Given the description of an element on the screen output the (x, y) to click on. 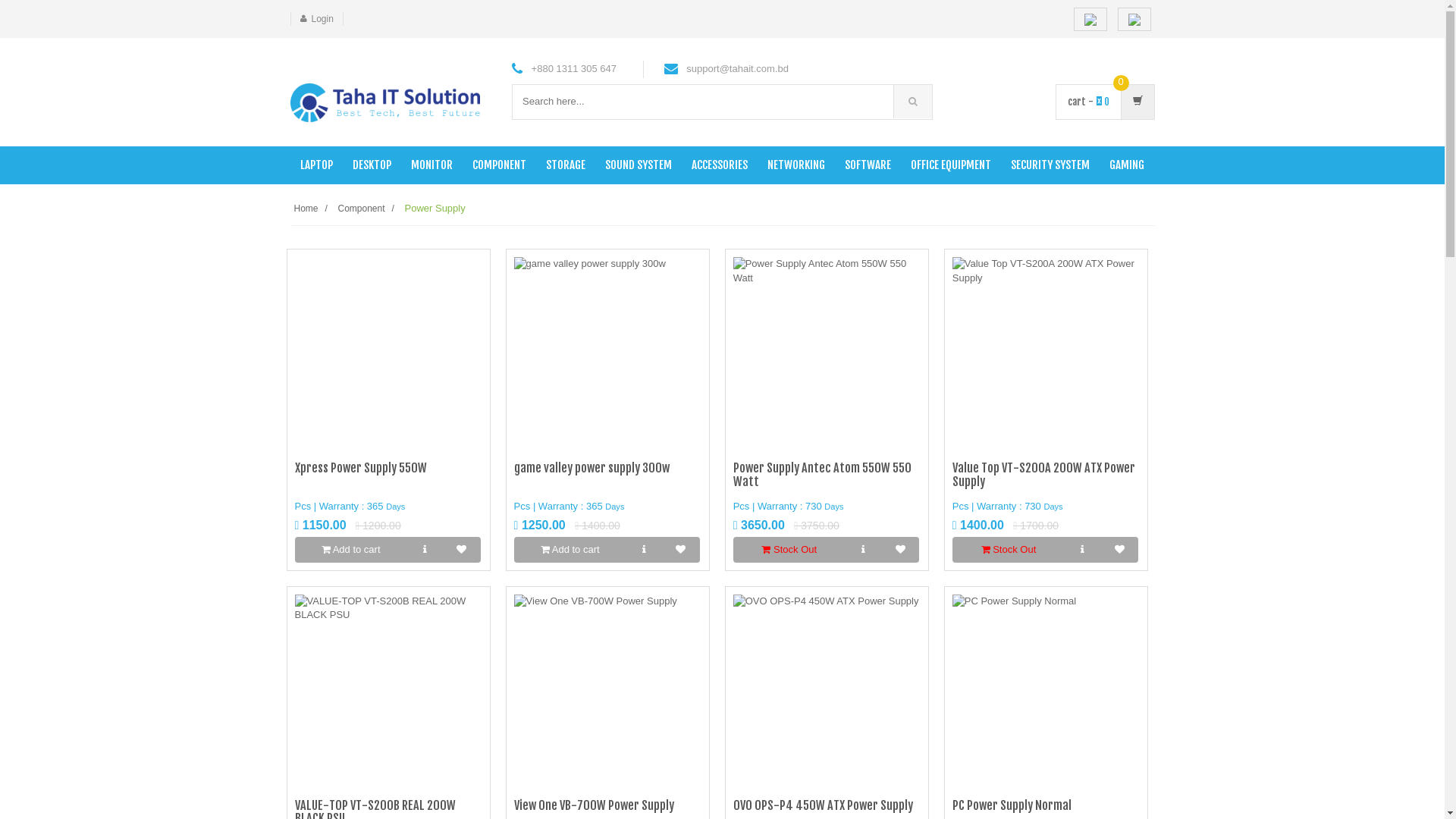
Home Element type: text (306, 208)
Login Element type: text (321, 18)
Product details Element type: hover (424, 549)
Add to wishlist Element type: hover (899, 549)
SOUND SYSTEM Element type: text (637, 165)
MONITOR Element type: text (430, 165)
GAMING Element type: text (1126, 165)
SOFTWARE Element type: text (867, 165)
Add to wishlist Element type: hover (461, 549)
Product details Element type: hover (643, 549)
Power Supply Antec Atom 550W 550 Watt Element type: text (822, 474)
SECURITY SYSTEM Element type: text (1050, 165)
Component Element type: text (360, 208)
Add to cart Element type: text (350, 549)
NETWORKING Element type: text (795, 165)
game valley power supply 300w Element type: text (591, 467)
ACCESSORIES Element type: text (718, 165)
Pcs | Warranty : 730 Days Element type: text (1007, 505)
OFFICE EQUIPMENT Element type: text (950, 165)
PC Power Supply Normal Element type: text (1011, 804)
Pcs | Warranty : 730 Days Element type: text (788, 505)
Stock Out Element type: text (1008, 549)
Add to wishlist Element type: hover (680, 549)
Product details Element type: hover (1082, 549)
OVO OPS-P4 450W ATX Power Supply Element type: text (823, 804)
COMPONENT Element type: text (499, 165)
Add to wishlist Element type: hover (1118, 549)
DESKTOP Element type: text (371, 165)
Pcs | Warranty : 365 Days Element type: text (569, 505)
Product details Element type: hover (862, 549)
Xpress Power Supply 550W Element type: text (360, 467)
LAPTOP Element type: text (315, 165)
Add to cart Element type: text (570, 549)
View One VB-700W Power Supply Element type: text (594, 804)
STORAGE Element type: text (564, 165)
Value Top VT-S200A 200W ATX Power Supply Element type: text (1043, 474)
Pcs | Warranty : 365 Days Element type: text (349, 505)
Stock Out Element type: text (789, 549)
